Given the description of an element on the screen output the (x, y) to click on. 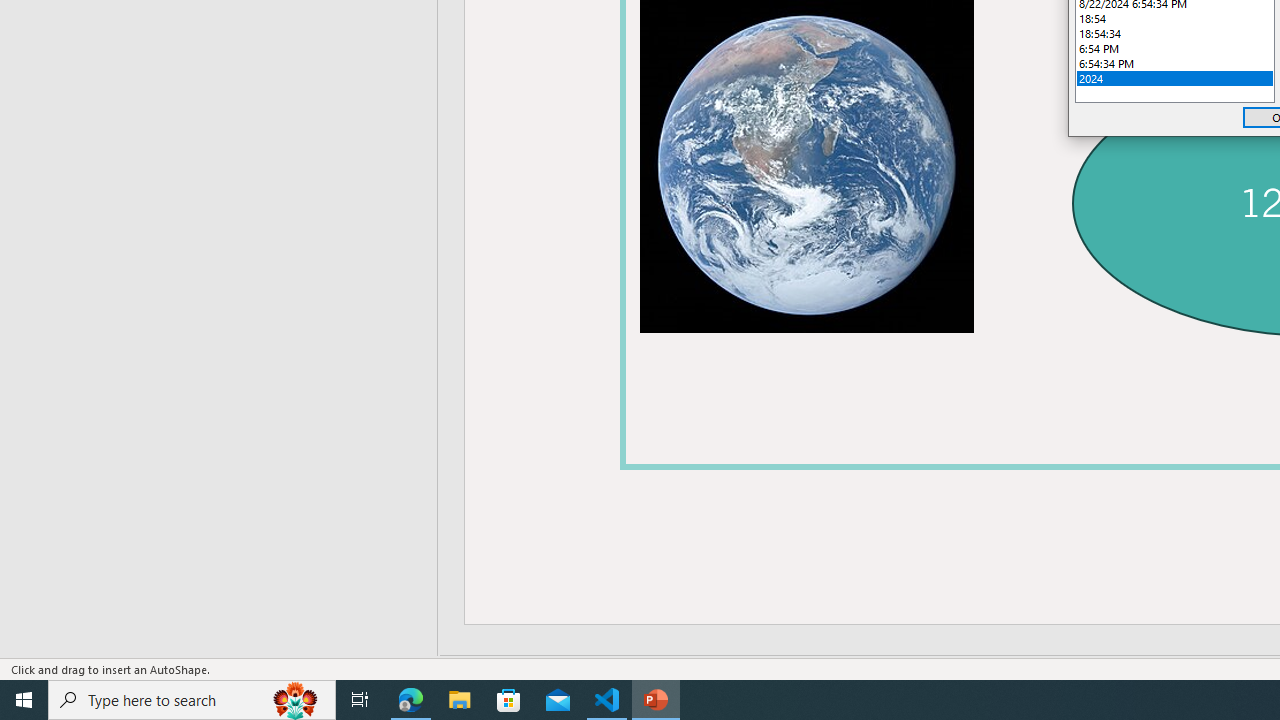
6:54:34 PM (1174, 63)
Microsoft Edge - 1 running window (411, 699)
PowerPoint - 1 running window (656, 699)
Type here to search (191, 699)
File Explorer (460, 699)
2024 (1174, 78)
Visual Studio Code - 1 running window (607, 699)
Task View (359, 699)
6:54 PM (1174, 48)
18:54:34 (1174, 33)
18:54 (1174, 17)
Search highlights icon opens search home window (295, 699)
Start (24, 699)
Microsoft Store (509, 699)
